Given the description of an element on the screen output the (x, y) to click on. 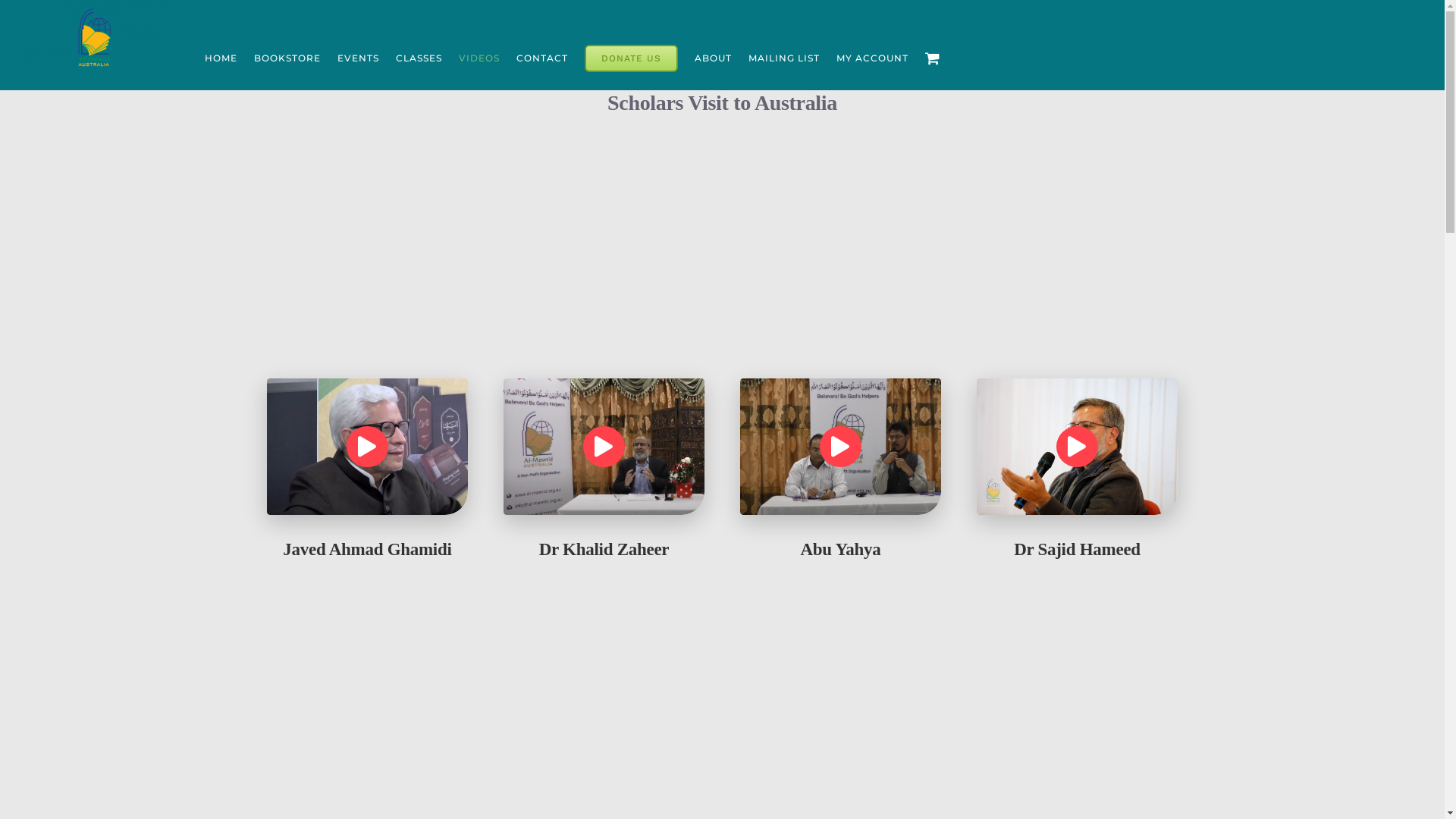
HOME Element type: text (220, 58)
Home Element type: text (702, 109)
EVENTS Element type: text (358, 58)
Log In Element type: text (932, 234)
CLASSES Element type: text (418, 58)
CONTACT Element type: text (541, 58)
MAILING LIST Element type: text (783, 58)
VIDEOS Element type: text (478, 58)
BOOKSTORE Element type: text (287, 58)
DONATE US Element type: text (630, 58)
MY ACCOUNT Element type: text (872, 58)
ABOUT Element type: text (712, 58)
